Given the description of an element on the screen output the (x, y) to click on. 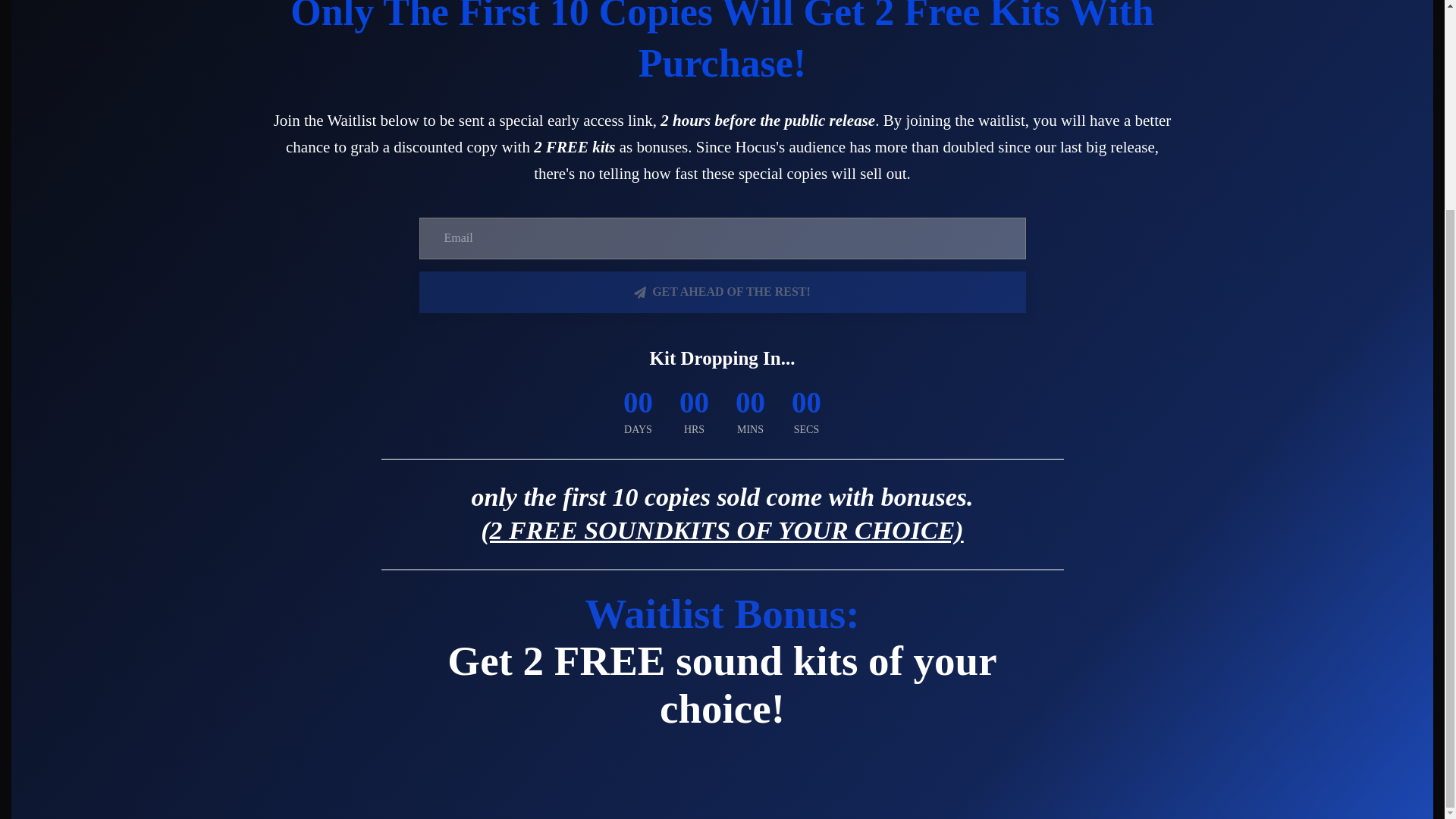
GET AHEAD OF THE REST! (722, 291)
